Given the description of an element on the screen output the (x, y) to click on. 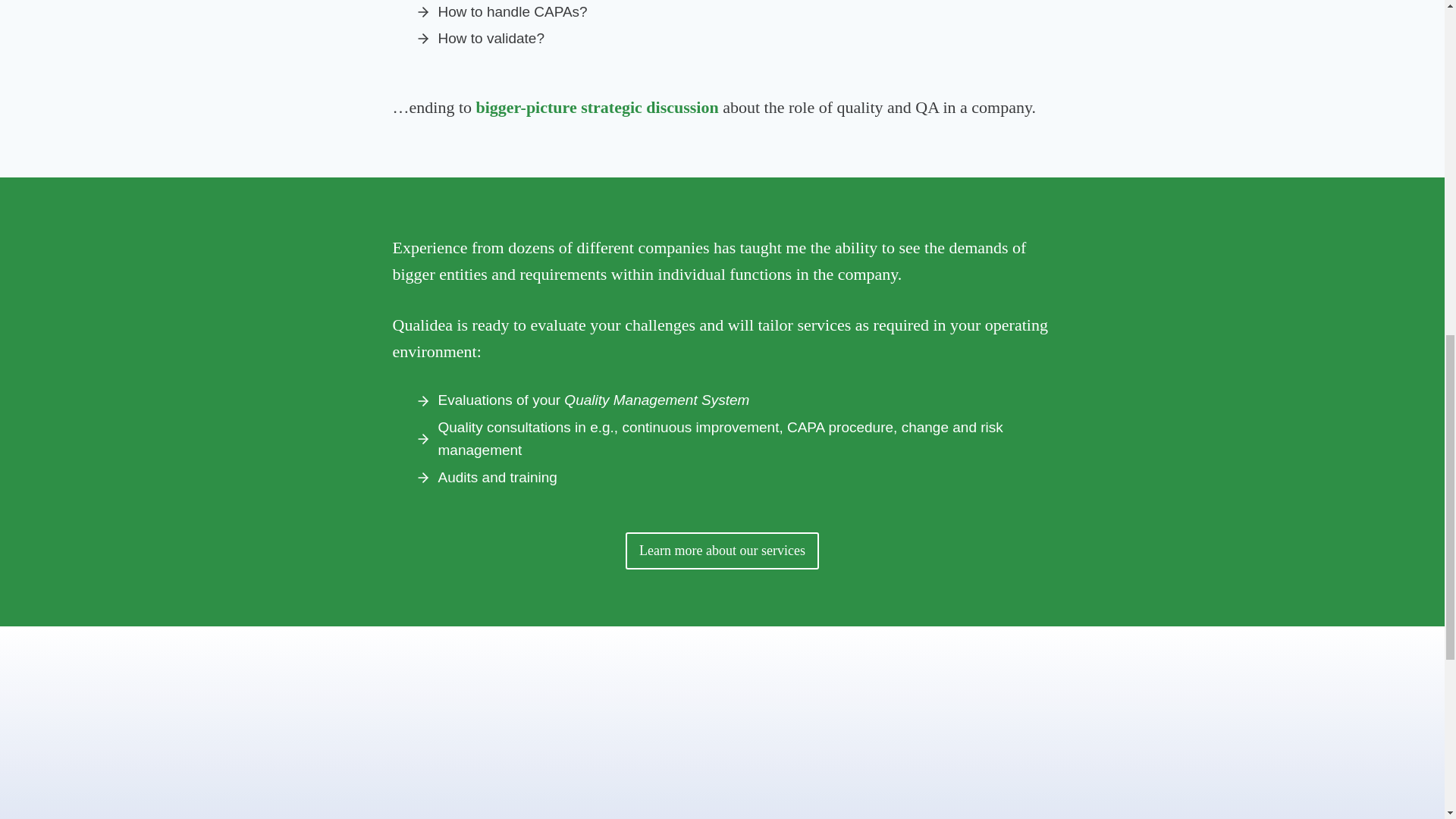
Learn more about our services (722, 550)
